Given the description of an element on the screen output the (x, y) to click on. 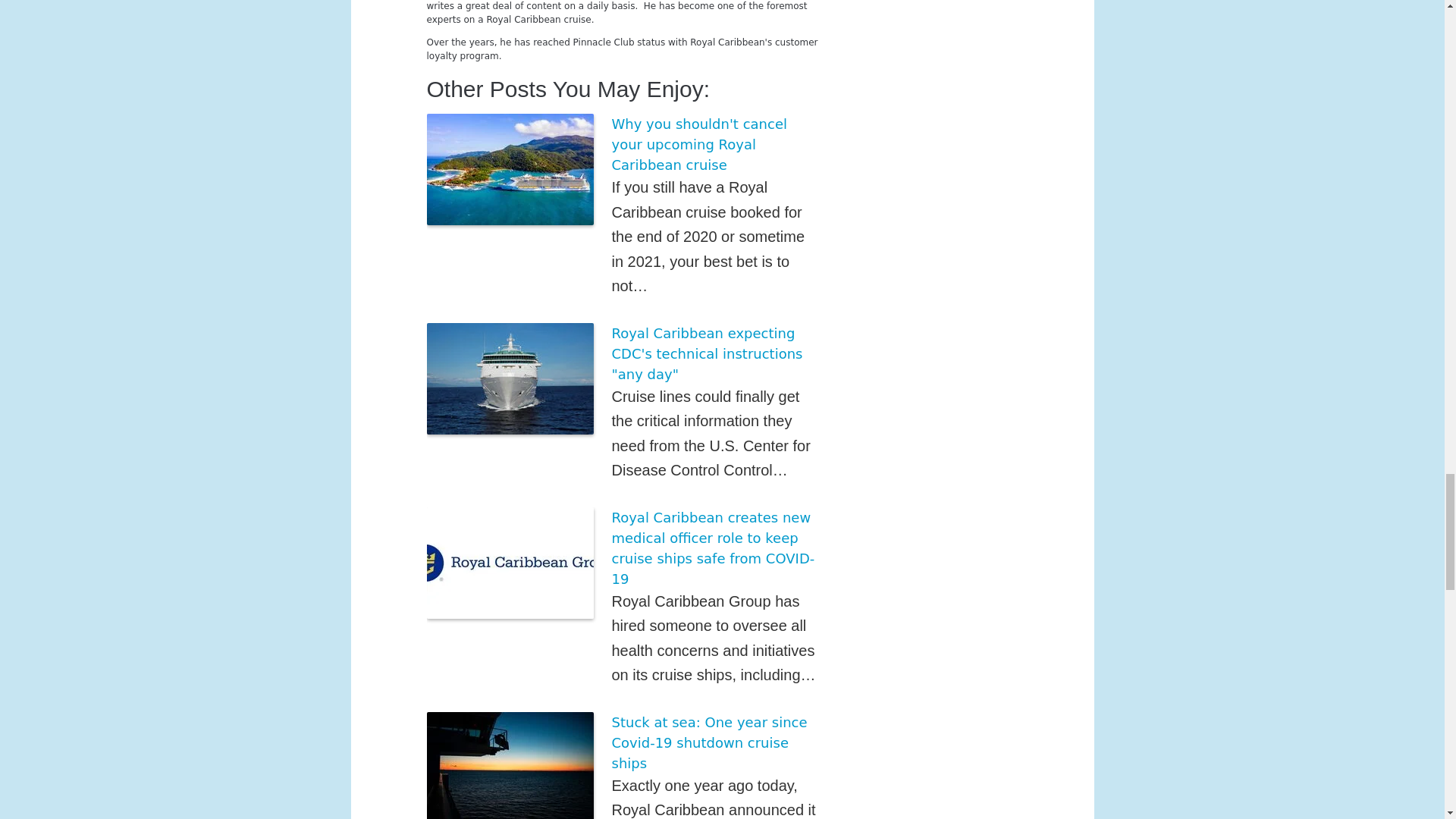
Stuck at sea: One year since Covid-19 shutdown cruise ships (708, 742)
